Given the description of an element on the screen output the (x, y) to click on. 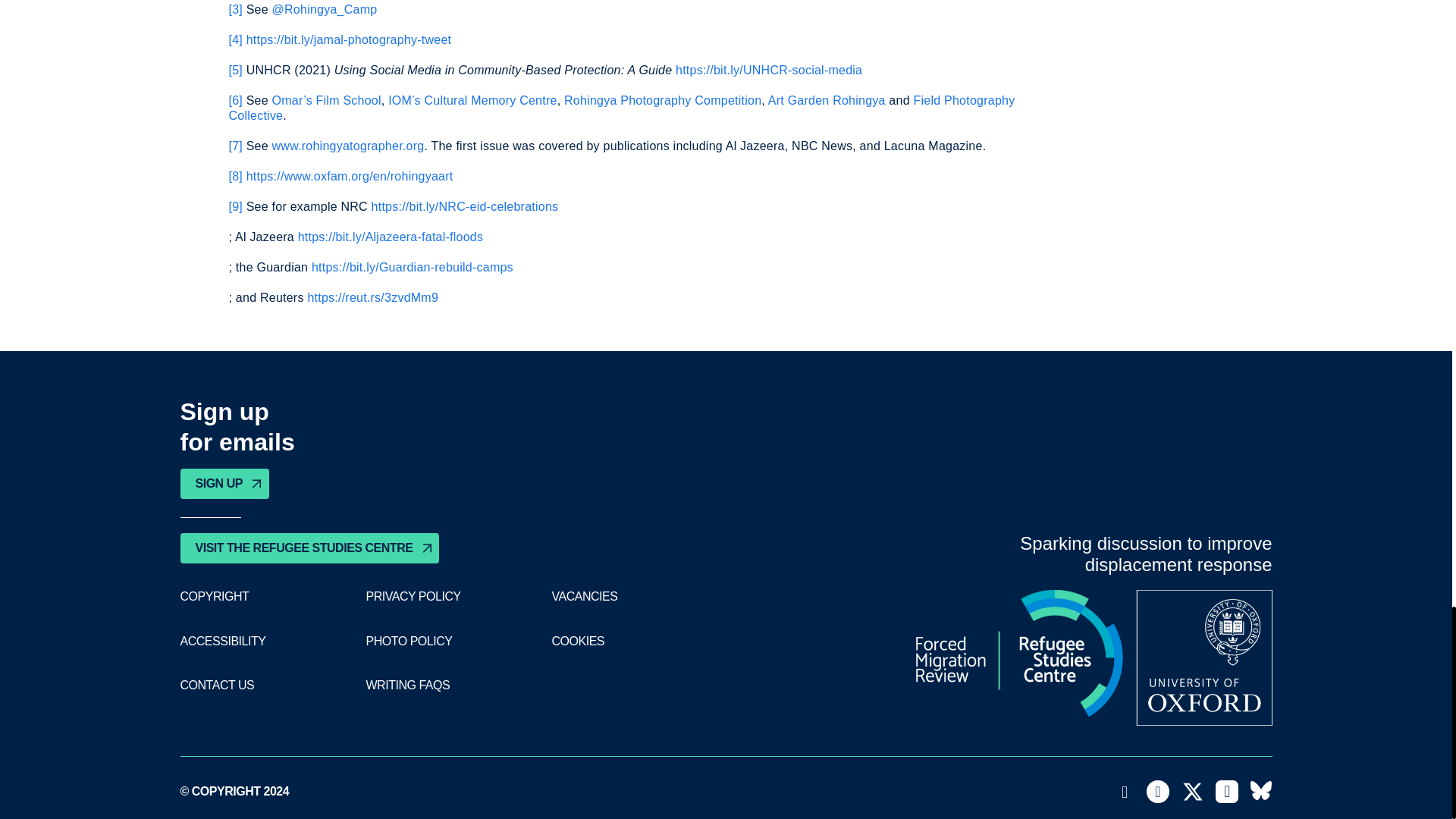
Twitter (1192, 791)
LinkedIn (1227, 791)
VK (1260, 791)
Facebook (1158, 791)
Email (1124, 791)
